Given the description of an element on the screen output the (x, y) to click on. 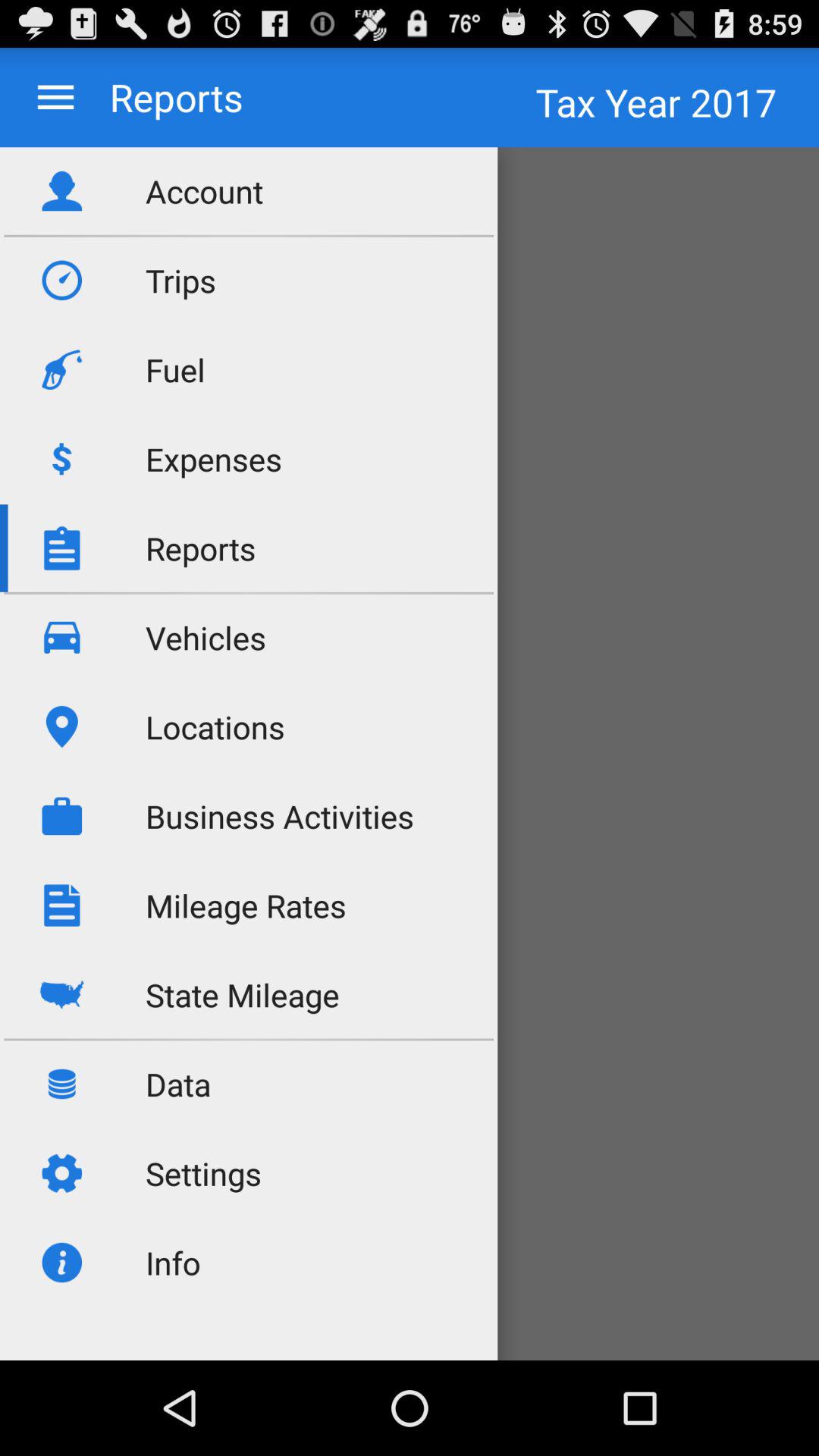
tap account icon (204, 190)
